Given the description of an element on the screen output the (x, y) to click on. 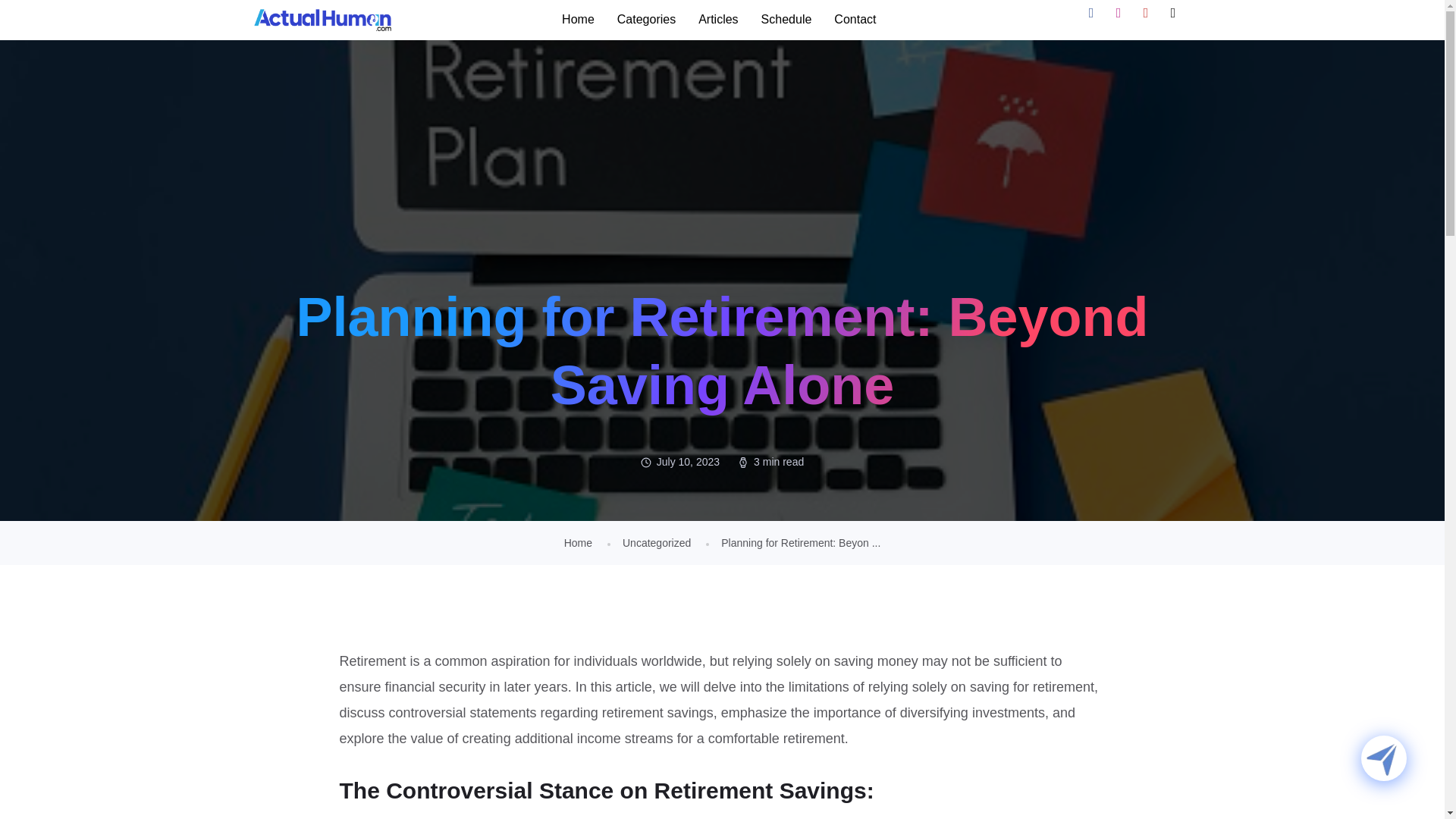
Articles (718, 19)
Categories (646, 19)
Contact (854, 19)
Planning for Retirement: Beyond Saving Alone (800, 542)
Schedule (786, 19)
Uncategorized (656, 542)
Home (578, 542)
Home (578, 542)
Home (577, 19)
